Given the description of an element on the screen output the (x, y) to click on. 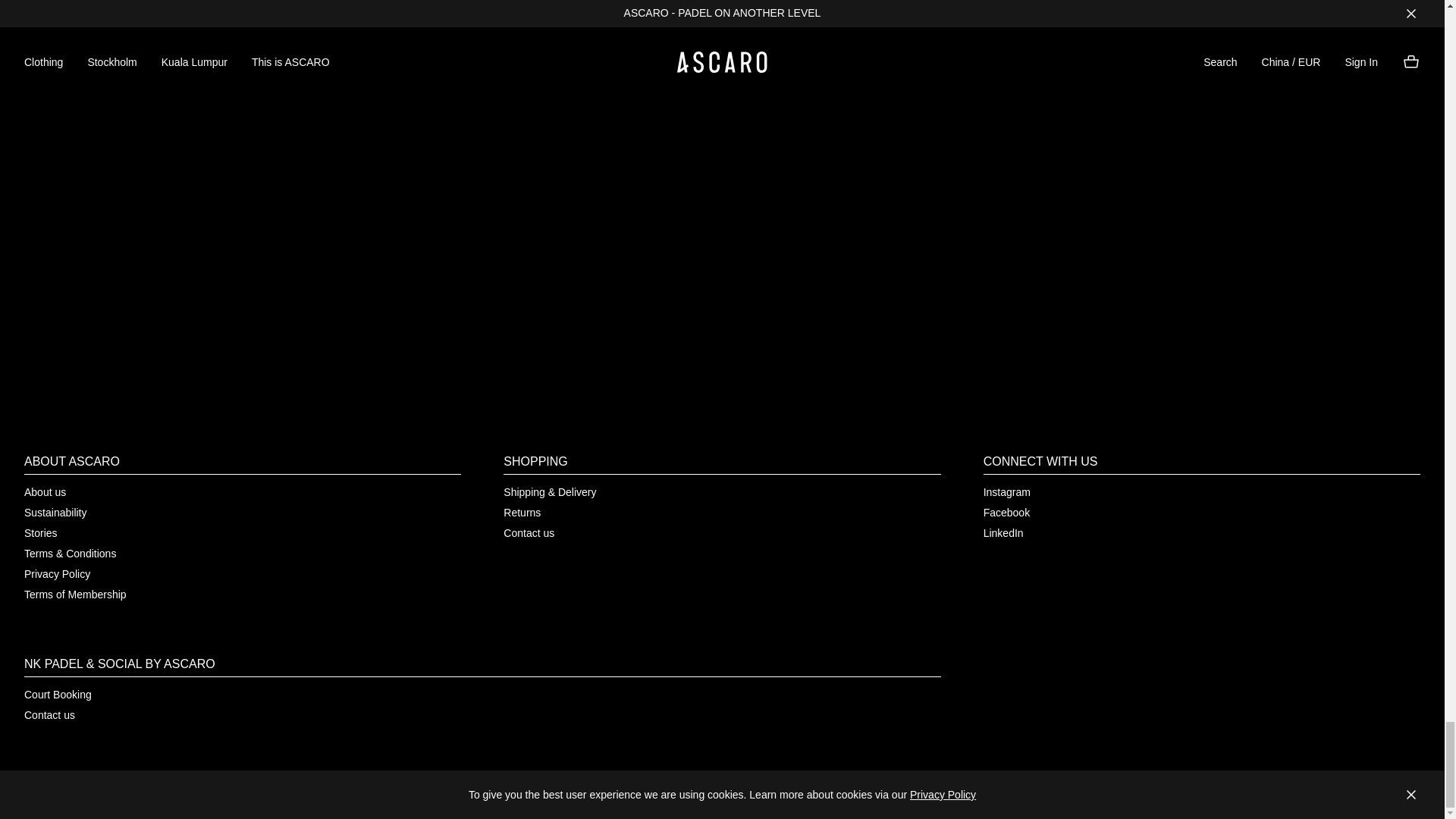
Instagram (1007, 493)
LinkedIn (1003, 534)
Contact us (528, 534)
Terms of Membership (75, 595)
Sustainability (55, 513)
Sign up (206, 19)
Contact us (49, 716)
Facebook (1006, 513)
Stories (41, 534)
Privacy Policy (57, 575)
About us (44, 493)
Returns (521, 513)
Privacy Policy (195, 70)
Court Booking (57, 696)
